Given the description of an element on the screen output the (x, y) to click on. 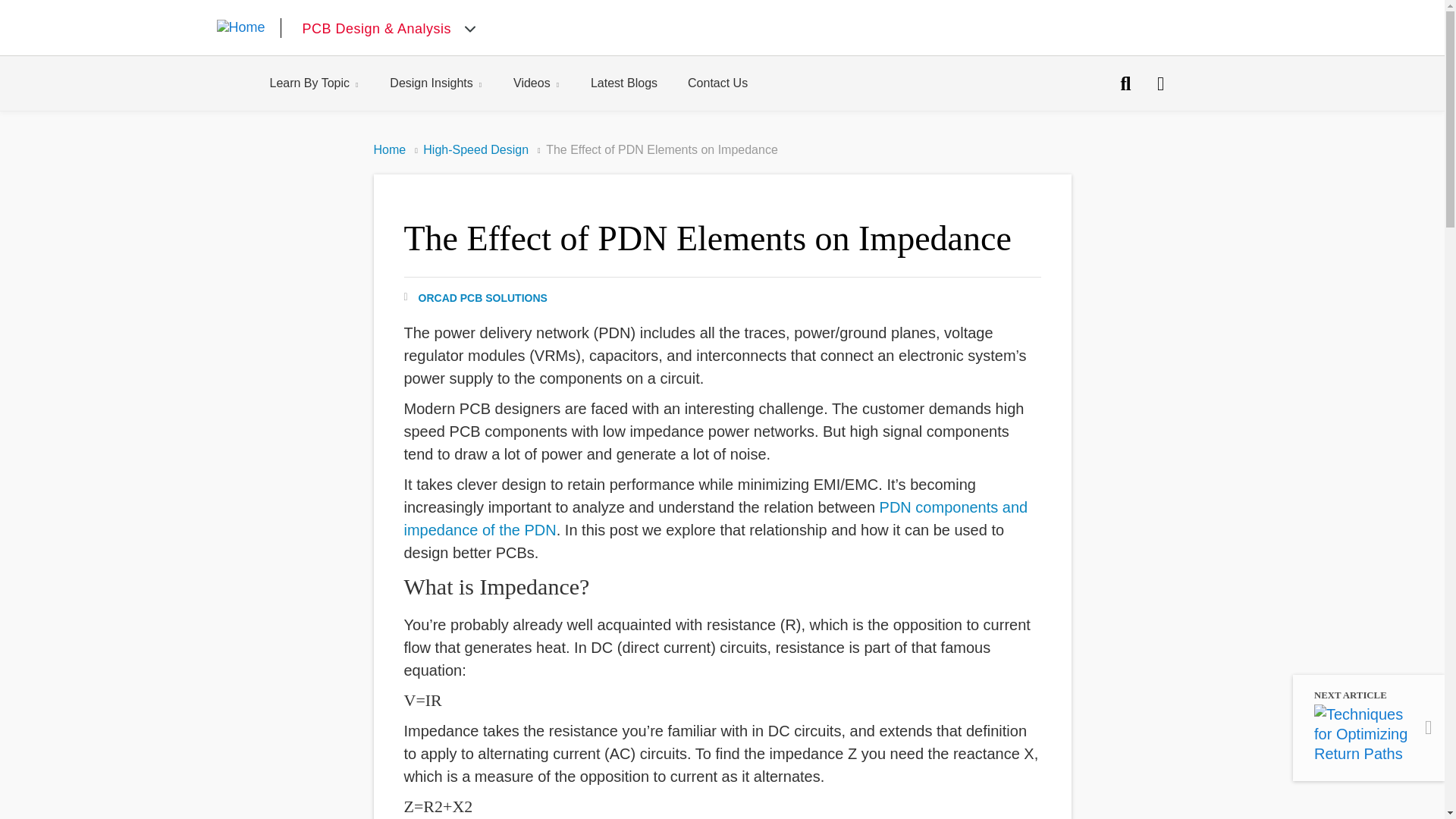
Share this Post (1160, 82)
Latest Blogs (639, 83)
Author (475, 296)
Share this Post (552, 83)
Open search box (1160, 82)
Open Search Box (1126, 82)
Contact Us (1126, 82)
